Given the description of an element on the screen output the (x, y) to click on. 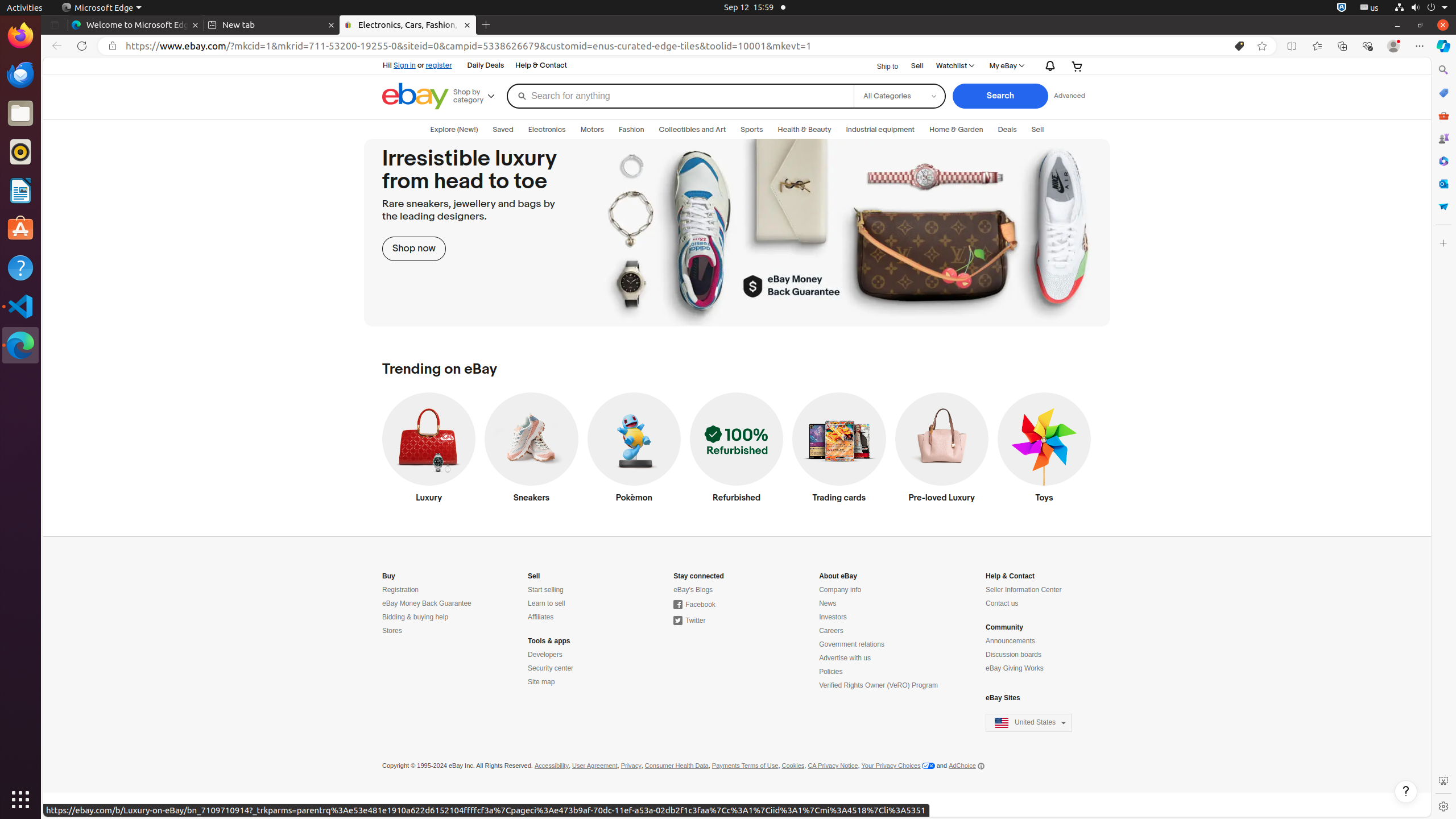
Contact us Element type: link (1001, 603)
Collections Element type: push-button (1341, 45)
Developers Element type: link (544, 654)
Seller Information Center Element type: link (1023, 589)
Your Privacy Choices Element type: link (898, 765)
